Given the description of an element on the screen output the (x, y) to click on. 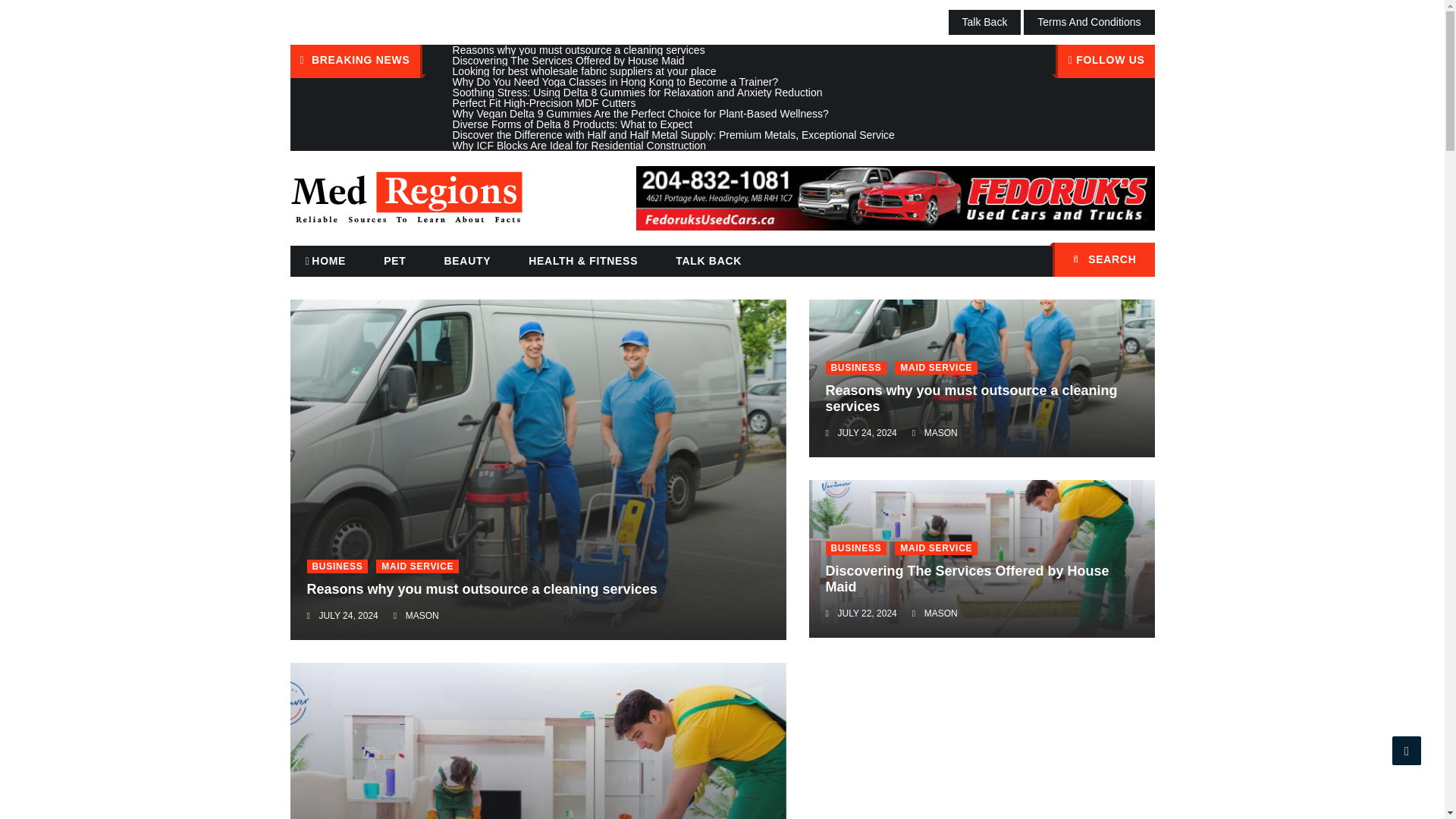
BUSINESS (336, 566)
Search (1135, 260)
MASON (941, 432)
HOME (325, 260)
JULY 22, 2024 (866, 613)
Reasons why you must outsource a cleaning services (480, 589)
JULY 24, 2024 (347, 615)
FOLLOW US (1104, 61)
Reasons why you must outsource a cleaning services (970, 398)
MAID SERVICE (416, 566)
TALK BACK (709, 260)
Search (1135, 260)
MASON (941, 613)
Terms And Conditions (1088, 22)
BUSINESS (855, 548)
